Given the description of an element on the screen output the (x, y) to click on. 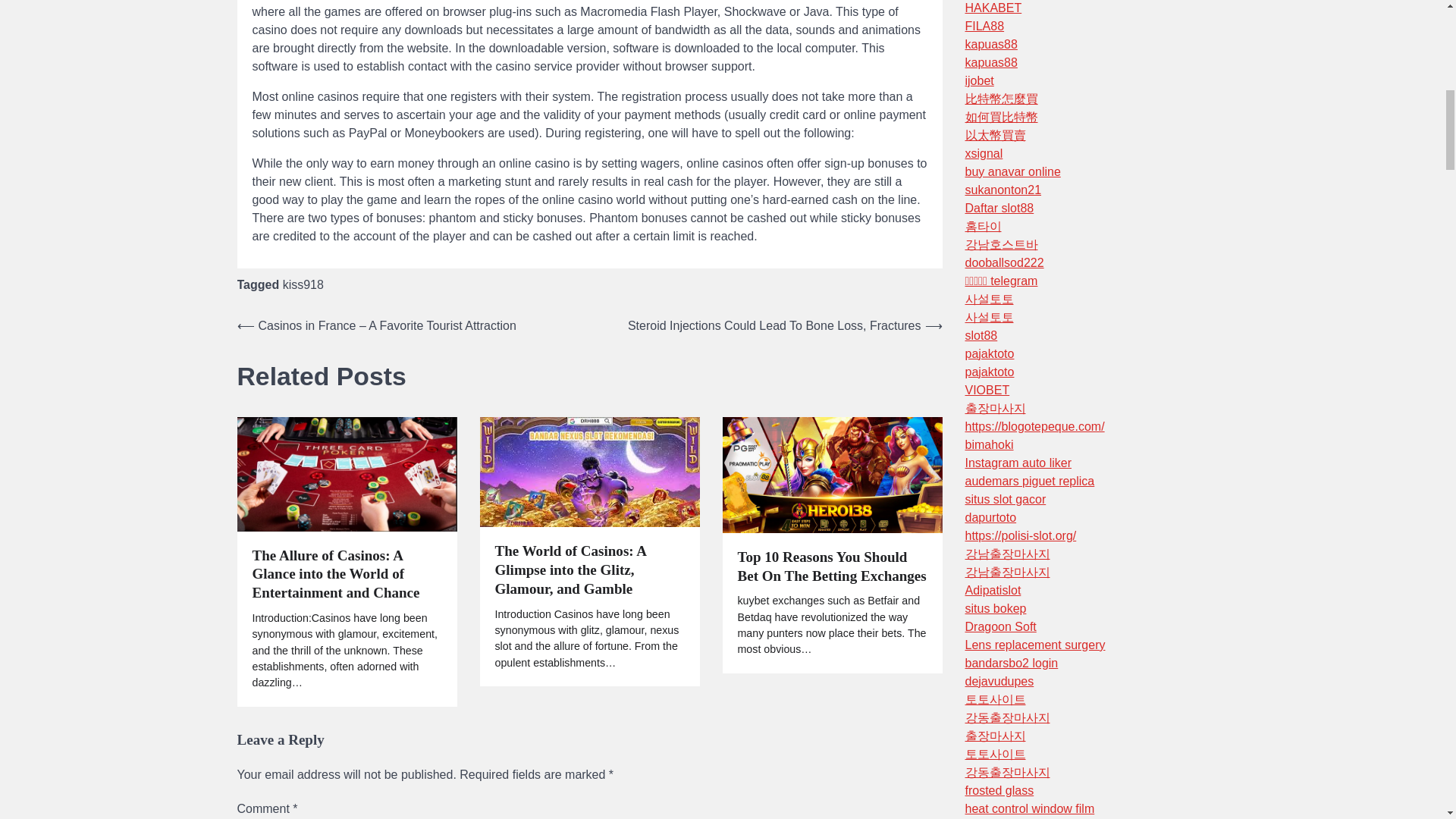
kiss918 (302, 284)
Top 10 Reasons You Should Bet On The Betting Exchanges (831, 566)
